Given the description of an element on the screen output the (x, y) to click on. 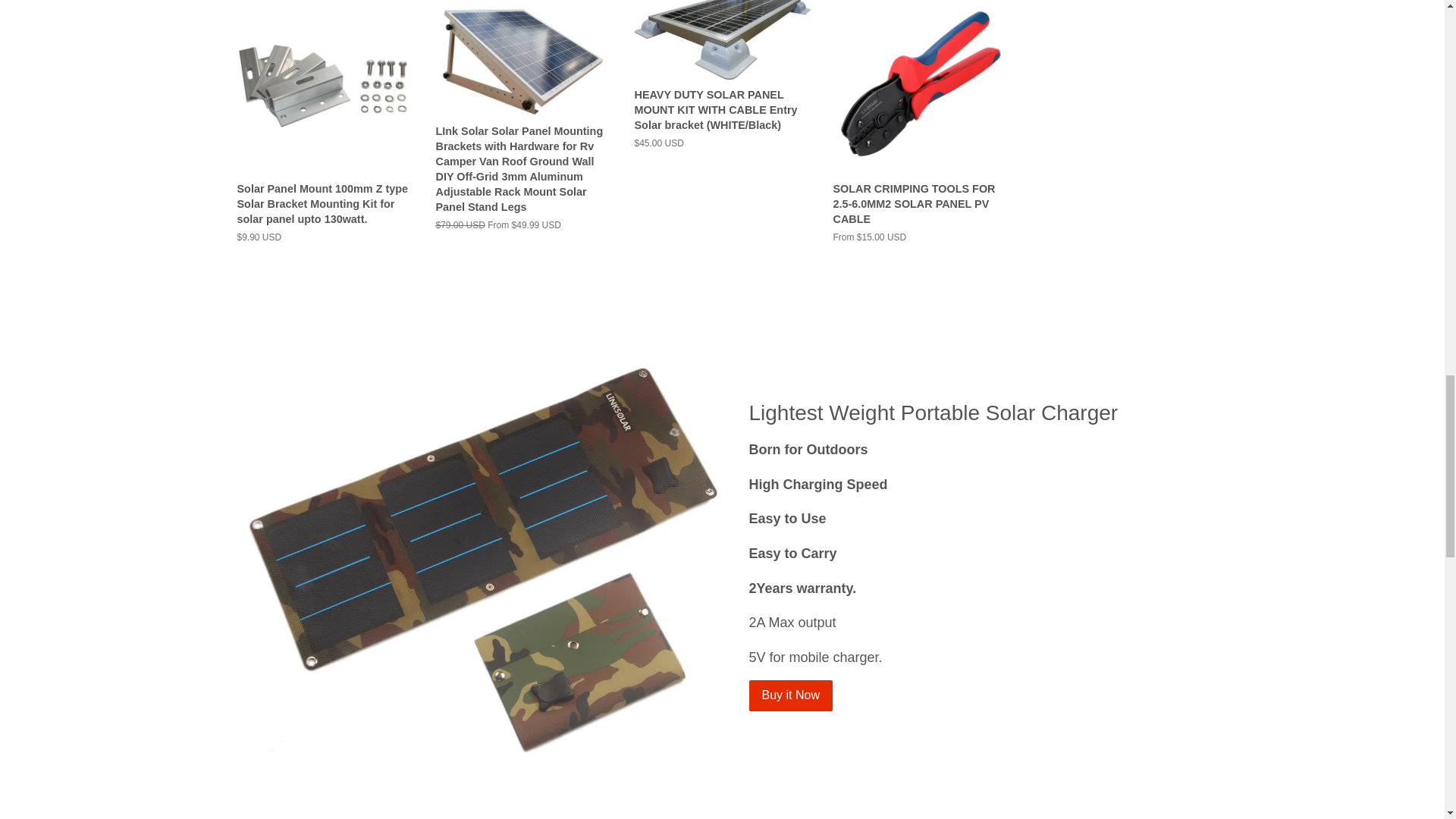
Buy it Now (790, 695)
